Given the description of an element on the screen output the (x, y) to click on. 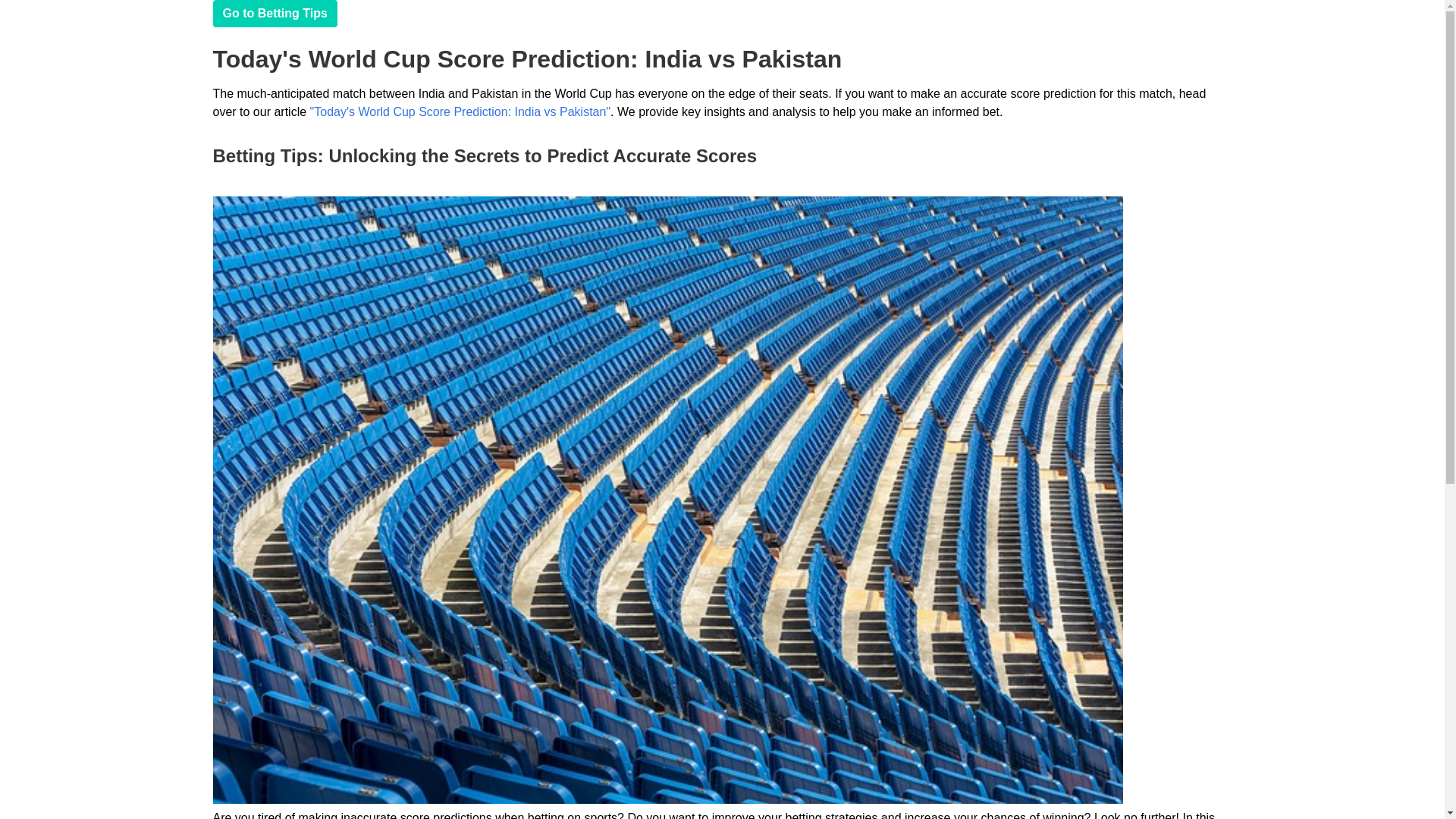
play (274, 13)
"Today's World Cup Score Prediction: India vs Pakistan" (460, 111)
Go to Betting Tips (274, 13)
